Given the description of an element on the screen output the (x, y) to click on. 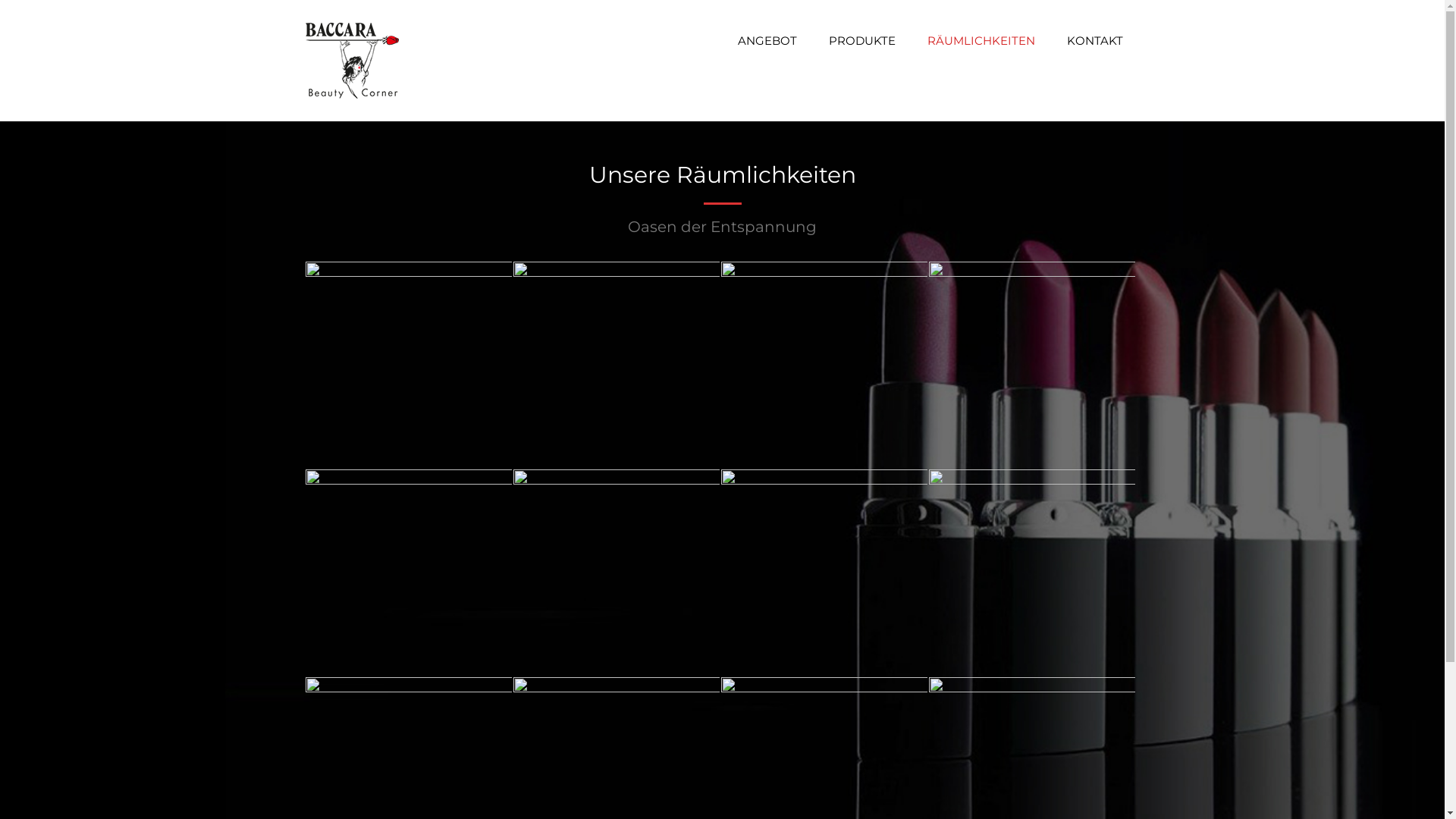
Baccara Konolfinge Element type: hover (351, 60)
PRODUKTE Element type: text (861, 40)
KONTAKT Element type: text (1094, 40)
ANGEBOT Element type: text (766, 40)
